Given the description of an element on the screen output the (x, y) to click on. 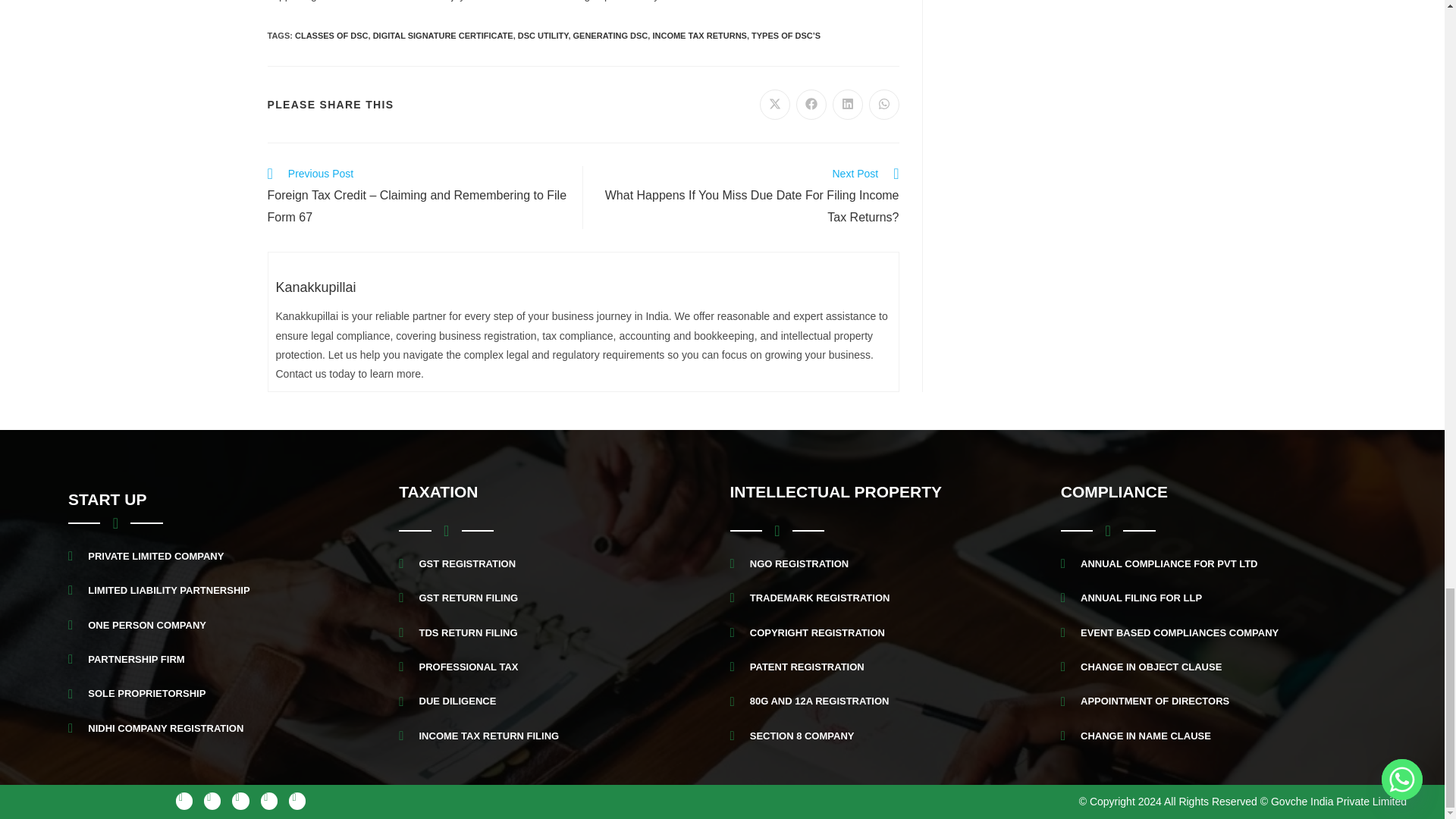
Visit author page (316, 287)
